Given the description of an element on the screen output the (x, y) to click on. 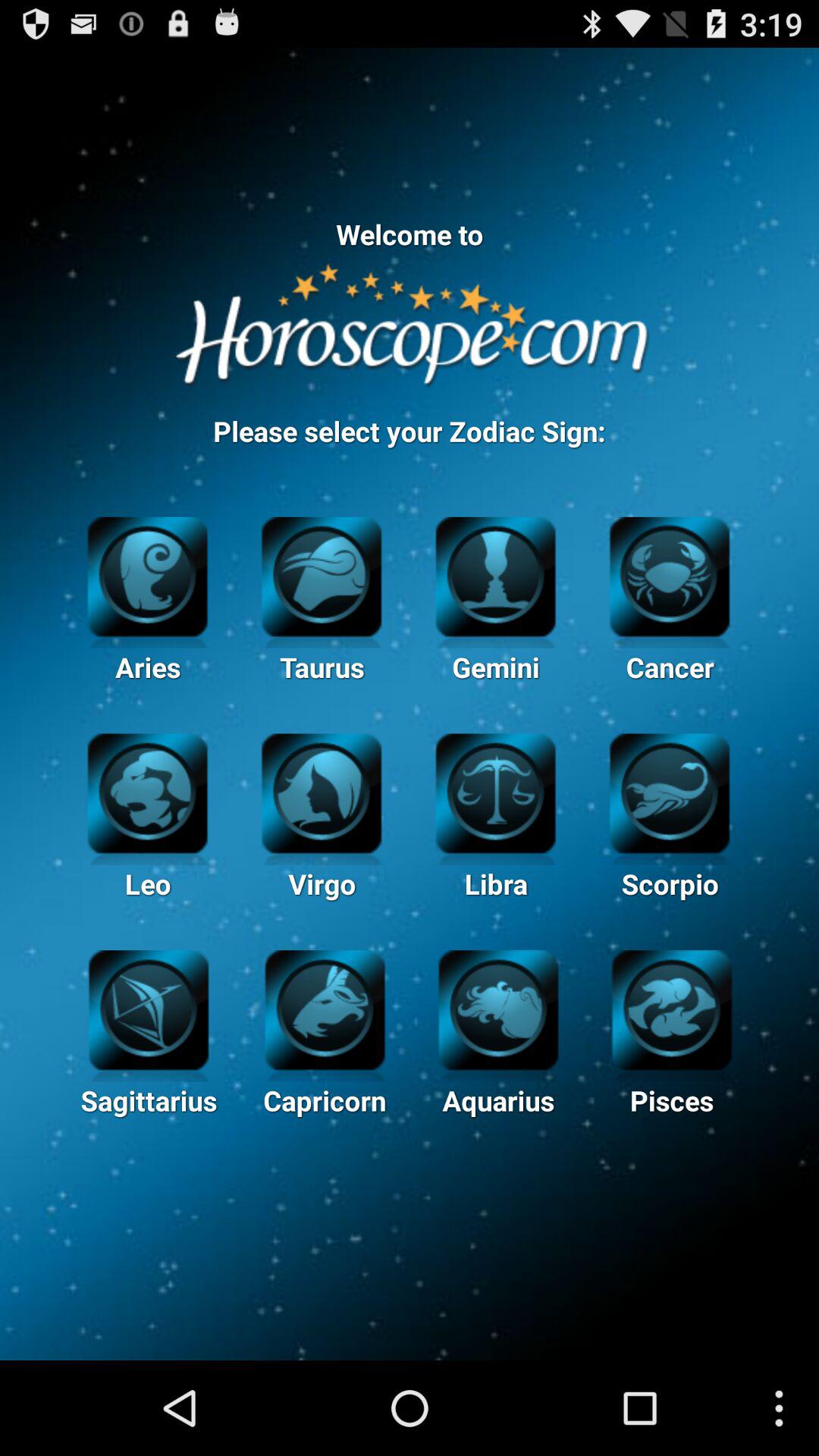
click on leo horoscope (147, 791)
